Given the description of an element on the screen output the (x, y) to click on. 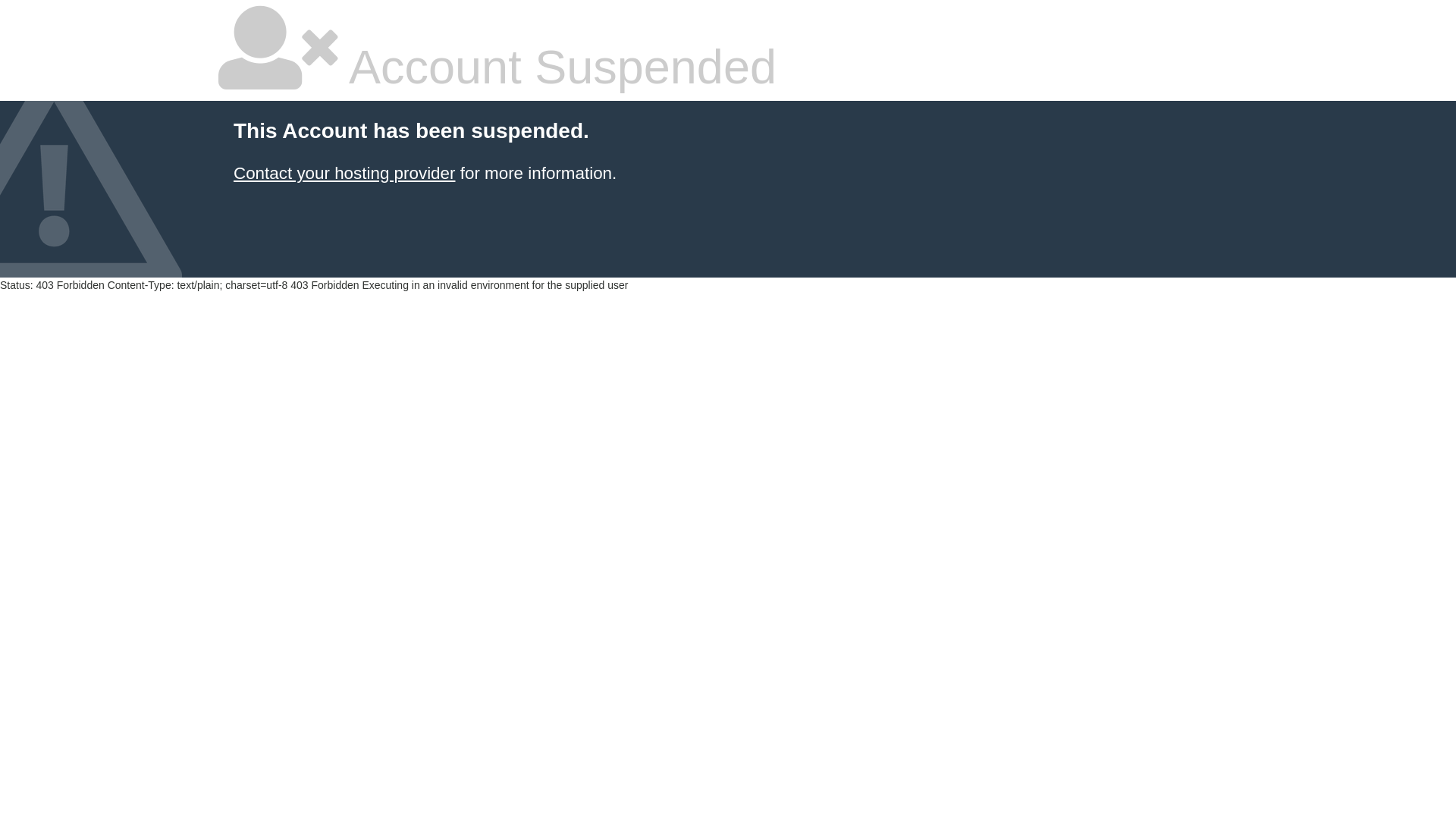
Contact your hosting provider Element type: text (344, 172)
